Given the description of an element on the screen output the (x, y) to click on. 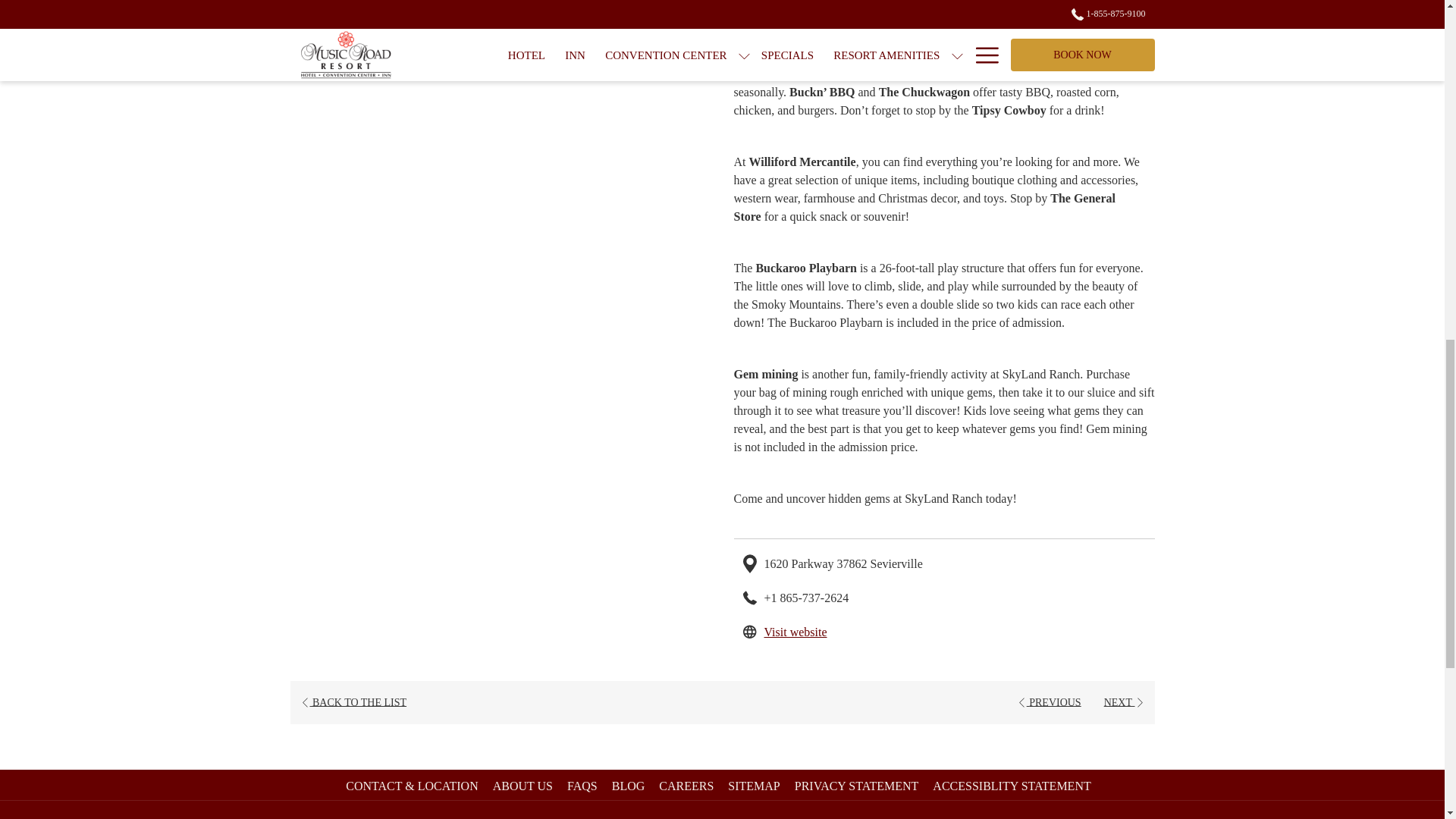
NEXT (795, 631)
PREVIOUS (1124, 702)
